Given the description of an element on the screen output the (x, y) to click on. 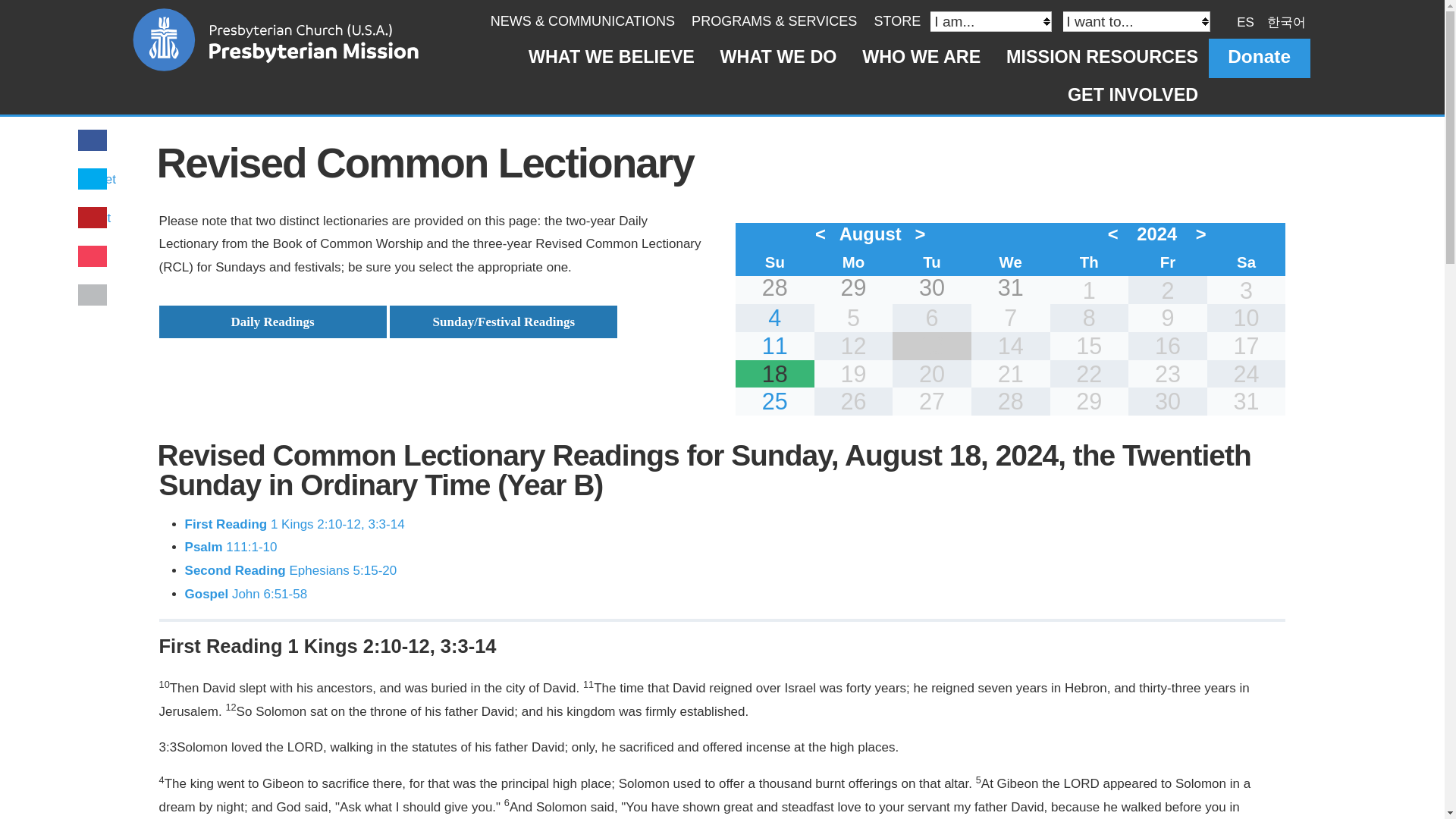
ES (1245, 22)
Share on Facebook (92, 140)
Last Year (1115, 233)
Share on Twitter (98, 178)
Pin It (96, 217)
STORE (896, 20)
